Given the description of an element on the screen output the (x, y) to click on. 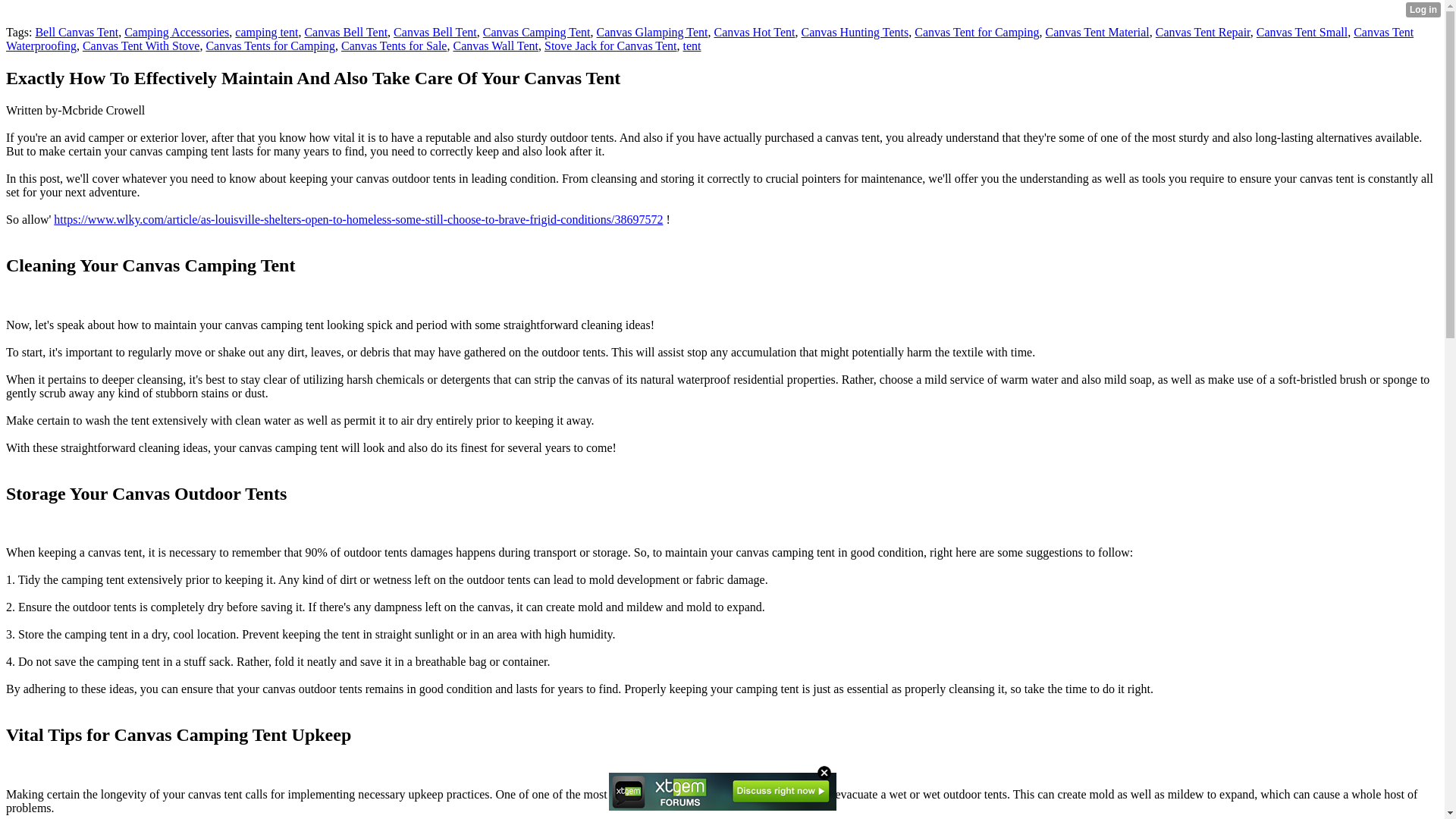
Canvas Tent Waterproofing (709, 38)
Canvas Bell Tent (345, 31)
Canvas Tent Repair (1203, 31)
Canvas Glamping Tent (651, 31)
Canvas Wall Tent (495, 45)
Stove Jack for Canvas Tent (610, 45)
Canvas Hot Tent (754, 31)
Camping Accessories (175, 31)
Canvas Hunting Tents (855, 31)
Canvas Tent Material (1097, 31)
Canvas Camping Tent (537, 31)
Canvas Bell Tent (435, 31)
Canvas Tent Small (1302, 31)
Canvas Tents for Sale (393, 45)
Bell Canvas Tent (75, 31)
